Given the description of an element on the screen output the (x, y) to click on. 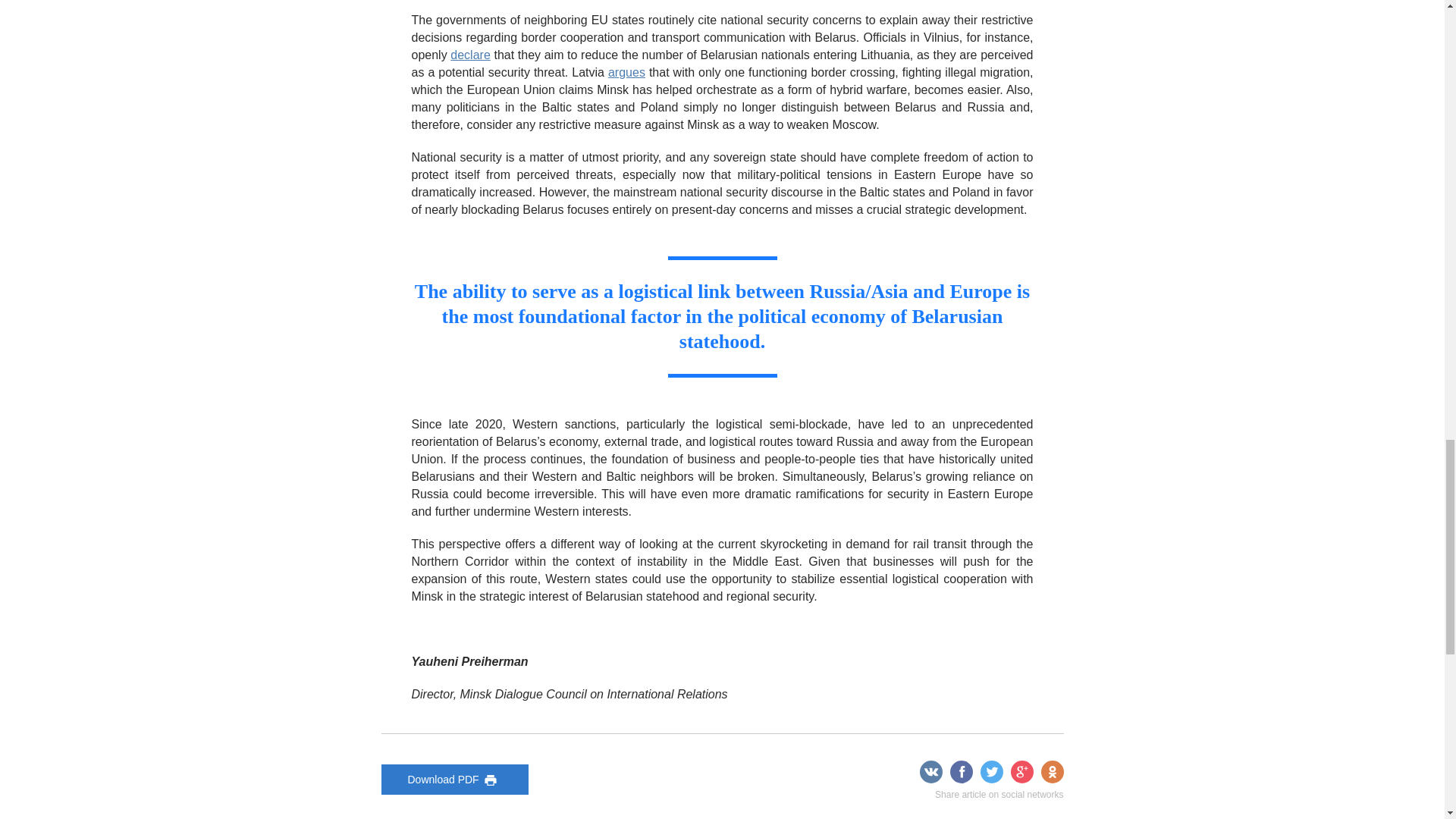
Download PDF (453, 779)
declare (469, 54)
argues (626, 72)
